Given the description of an element on the screen output the (x, y) to click on. 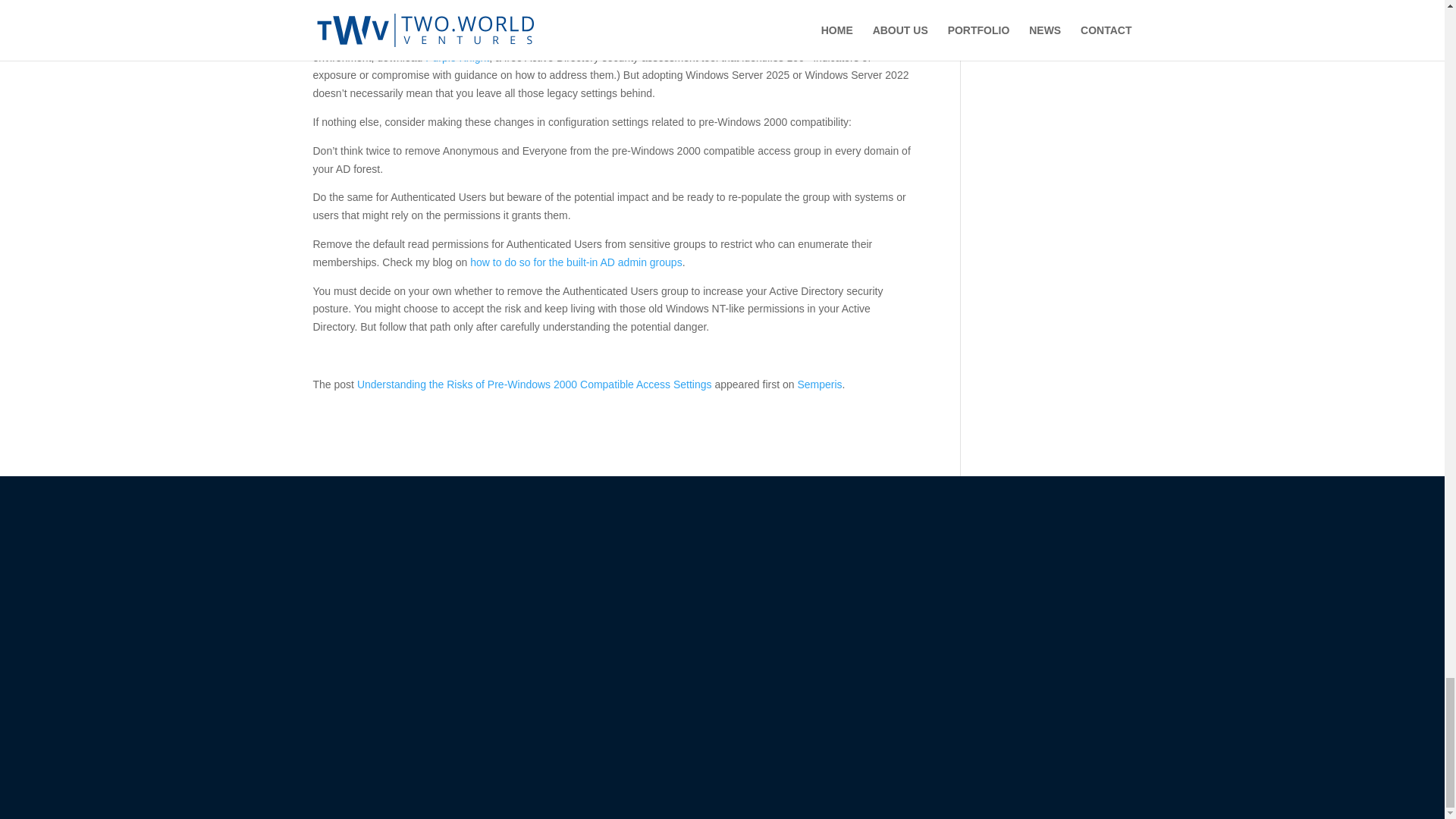
Purple Knight (457, 57)
Semperis (818, 384)
how to do so for the built-in AD admin groups (575, 262)
